Given the description of an element on the screen output the (x, y) to click on. 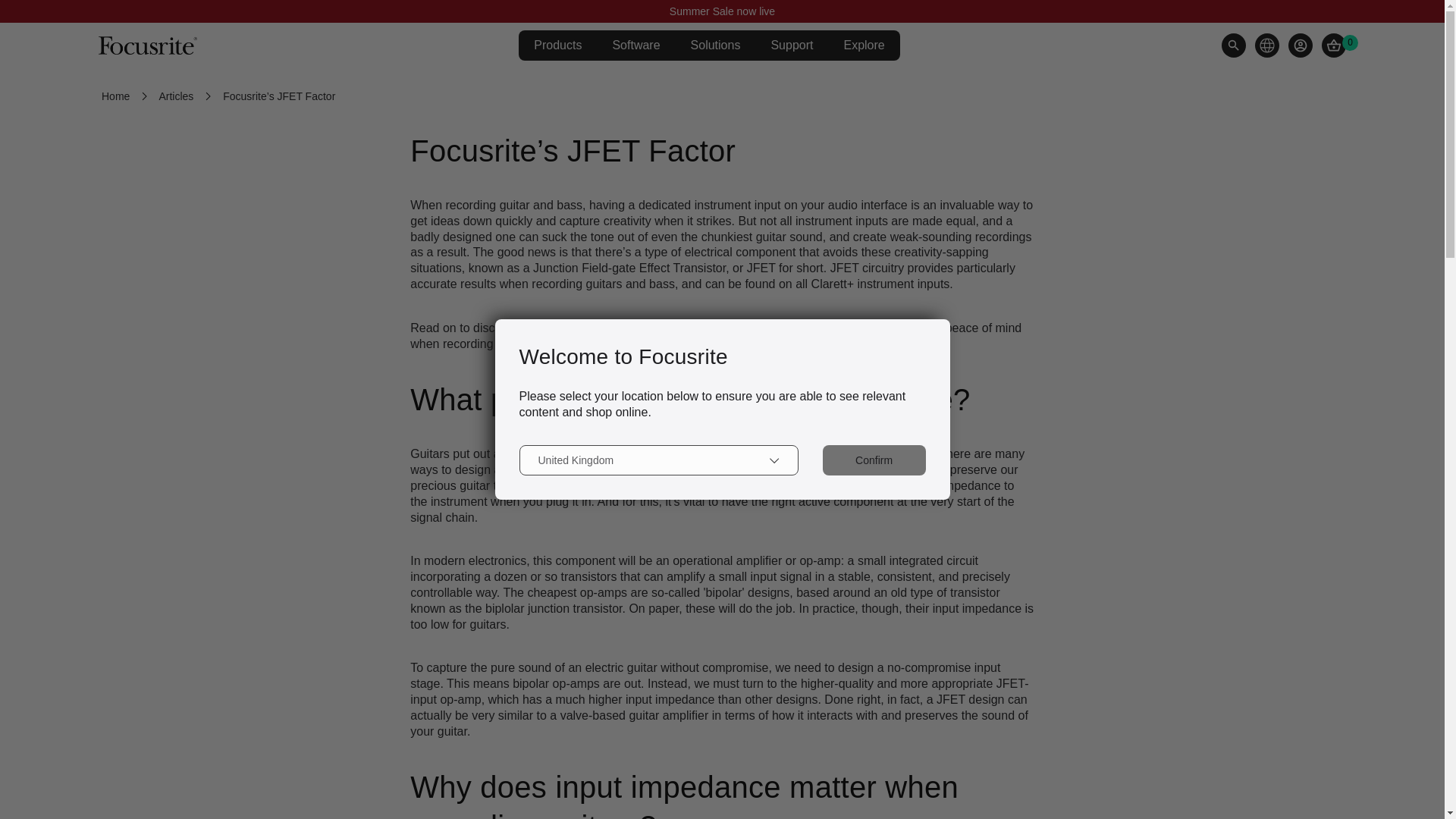
Products (557, 45)
Confirm (874, 460)
Products (557, 45)
Software (635, 45)
Summer Sale now live (721, 11)
Focusrite (147, 45)
